Given the description of an element on the screen output the (x, y) to click on. 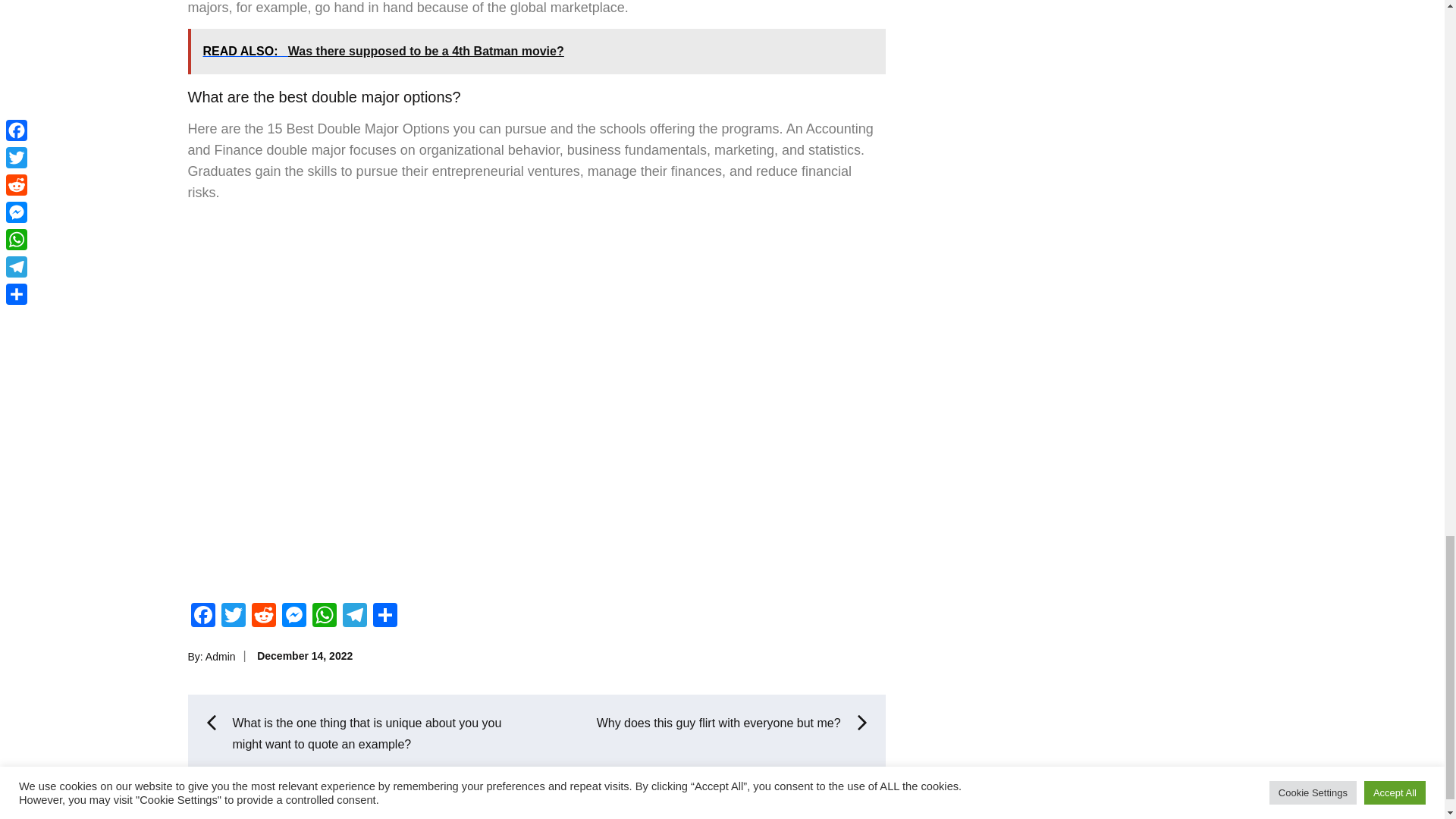
Reddit (263, 616)
Facebook (202, 616)
WhatsApp (323, 616)
Telegram (354, 616)
Reddit (263, 616)
Telegram (354, 616)
Share (384, 616)
Facebook (202, 616)
Twitter (233, 616)
Messenger (293, 616)
Twitter (233, 616)
READ ALSO:   Was there supposed to be a 4th Batman movie? (536, 51)
Admin (220, 655)
WhatsApp (323, 616)
December 14, 2022 (304, 655)
